Given the description of an element on the screen output the (x, y) to click on. 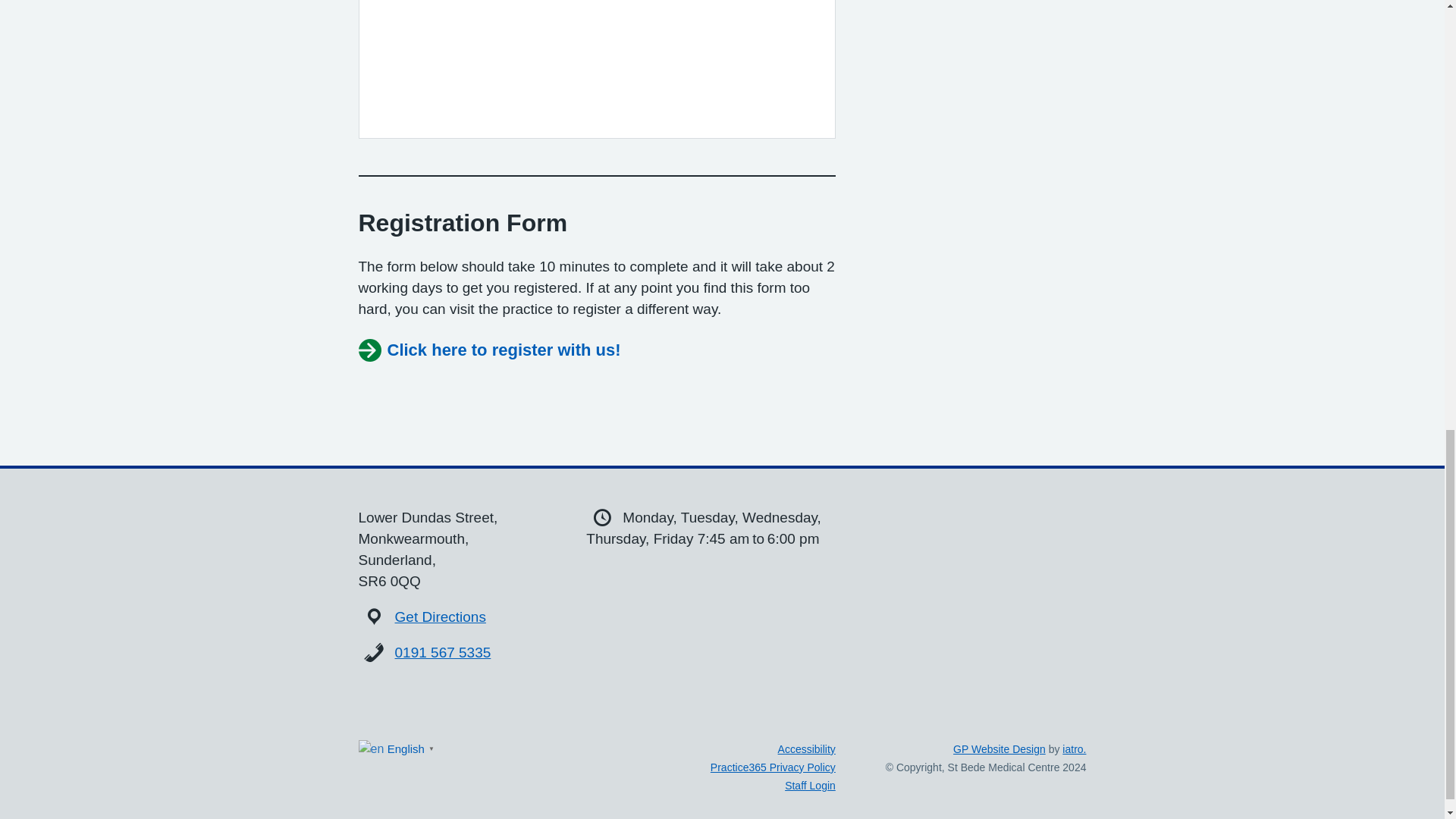
Click here to register with us! (489, 350)
0191 567 5335 (443, 652)
Get Directions (440, 616)
